Given the description of an element on the screen output the (x, y) to click on. 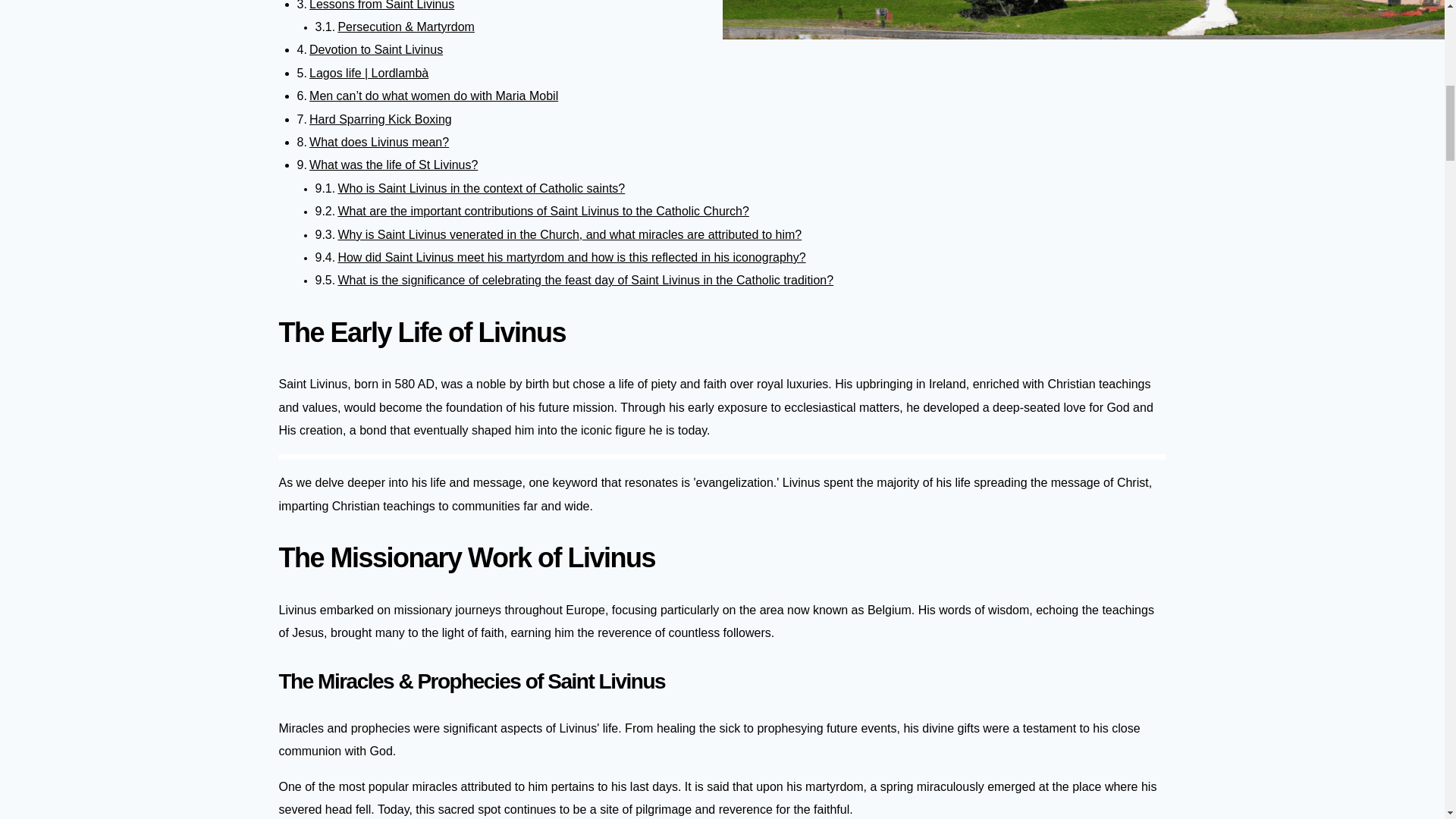
Devotion to Saint Livinus (375, 49)
What does Livinus mean? (378, 141)
What was the life of St Livinus? (392, 164)
Lessons from Saint Livinus (480, 187)
What does Livinus mean? (381, 5)
Hard Sparring Kick Boxing (378, 141)
Who is Saint Livinus in the context of Catholic saints? (379, 119)
Hard Sparring Kick Boxing (480, 187)
Devotion to Saint Livinus (379, 119)
Lessons from Saint Livinus (375, 49)
